Given the description of an element on the screen output the (x, y) to click on. 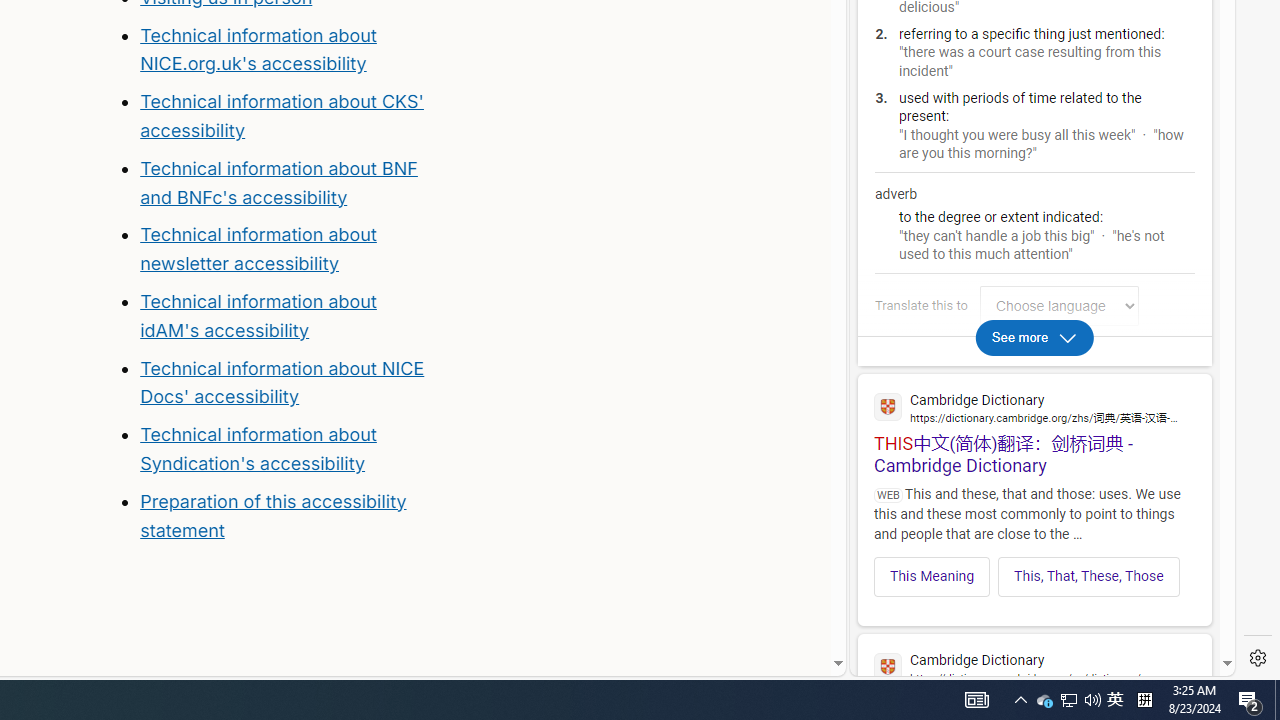
Technical information about idAM's accessibility (258, 315)
Technical information about NICE.org.uk's accessibility (258, 48)
Link for logging (1064, 305)
Technical information about newsletter accessibility (258, 249)
Preparation of this accessibility statement (273, 515)
Preparation of this accessibility statement (287, 515)
This MeaningThis, That, These, Those (1034, 570)
Global web icon (888, 667)
Technical information about BNF and BNFc's accessibility (278, 182)
Translate this to Choose language (1059, 305)
